Given the description of an element on the screen output the (x, y) to click on. 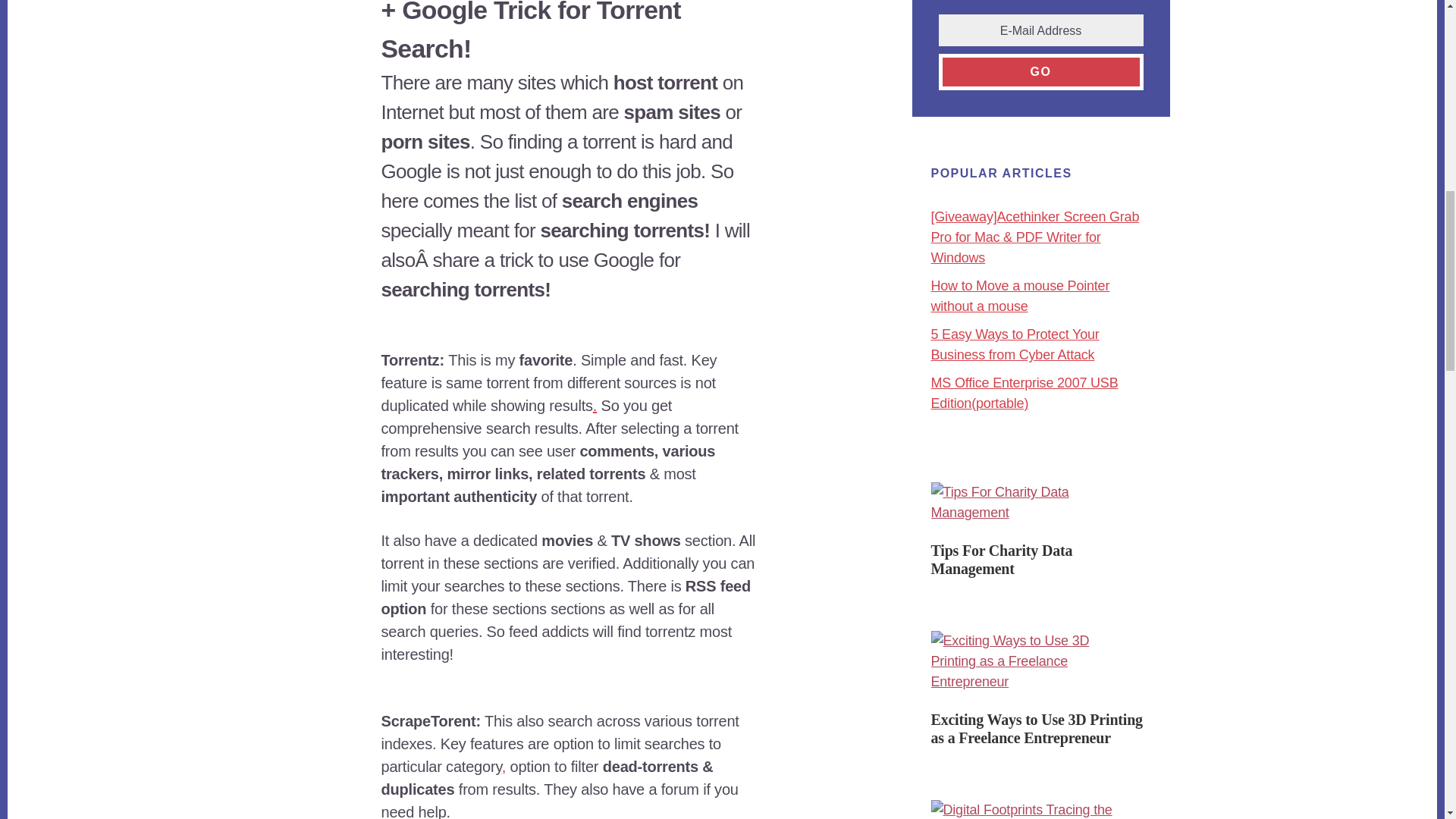
Go (1040, 72)
How to Move a mouse Pointer without a mouse (1020, 295)
5 Easy Ways to Protect Your Business from Cyber Attack (1015, 344)
Go (1040, 72)
Tips For Charity Data Management (1002, 559)
Exciting Ways to Use 3D Printing as a Freelance Entrepreneur (1036, 728)
